Given the description of an element on the screen output the (x, y) to click on. 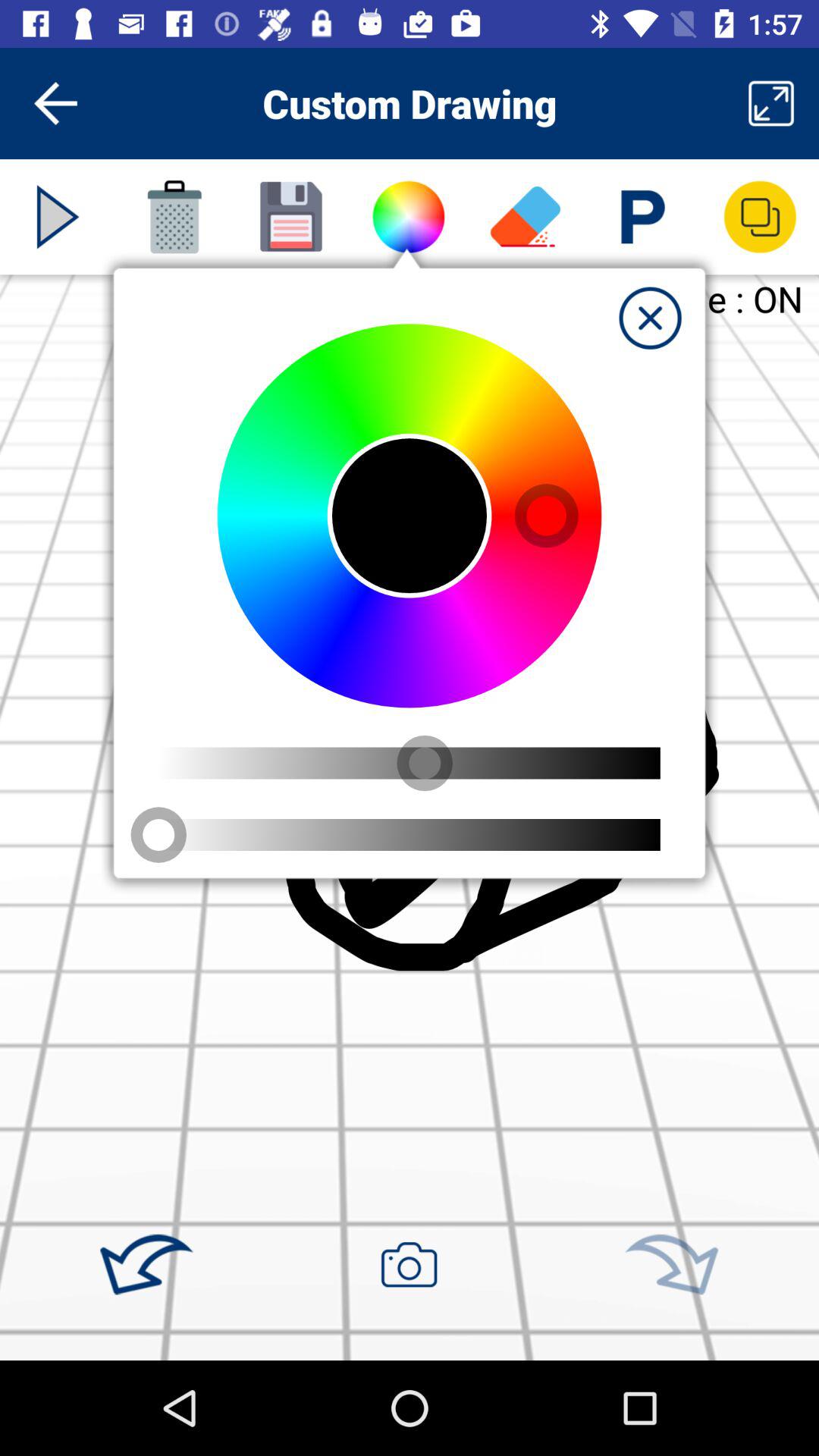
close button (650, 318)
